Given the description of an element on the screen output the (x, y) to click on. 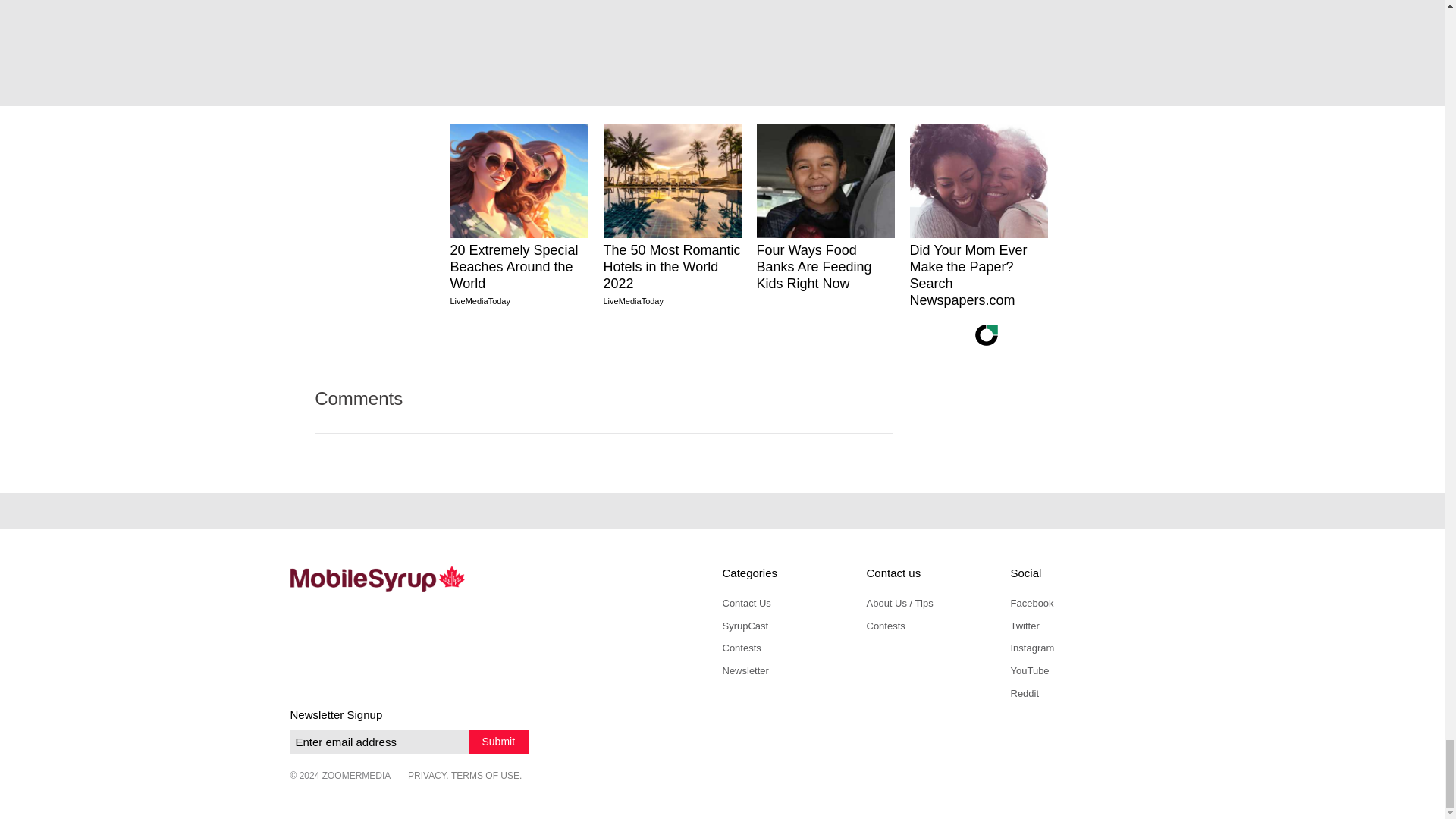
Social Link: Facebook (1031, 603)
Social Link: Youtube (1029, 670)
Social Link: Twitter (1024, 625)
Submit (498, 741)
Social Link: Reddit (1024, 693)
Social Link: Instagram (1032, 647)
